Given the description of an element on the screen output the (x, y) to click on. 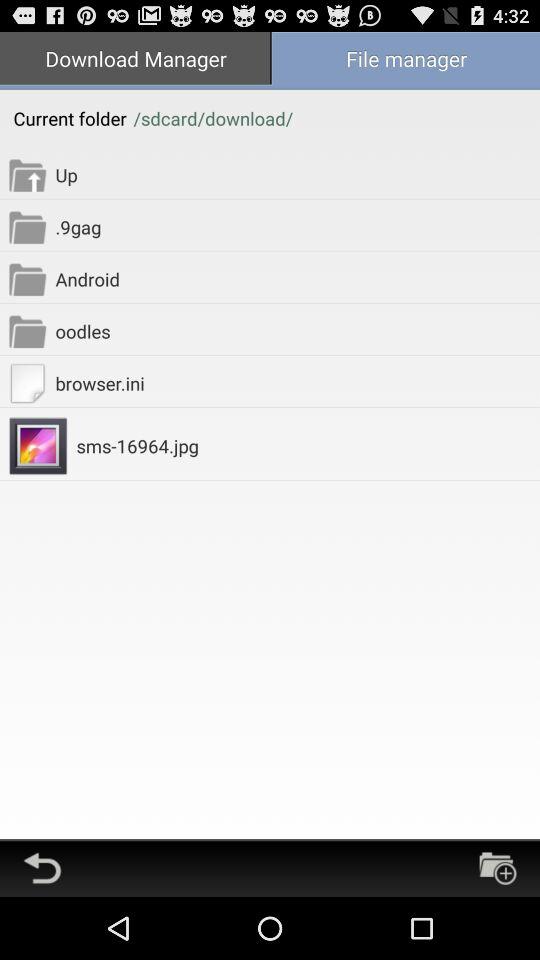
open the icon below the browser.ini item (308, 445)
